Given the description of an element on the screen output the (x, y) to click on. 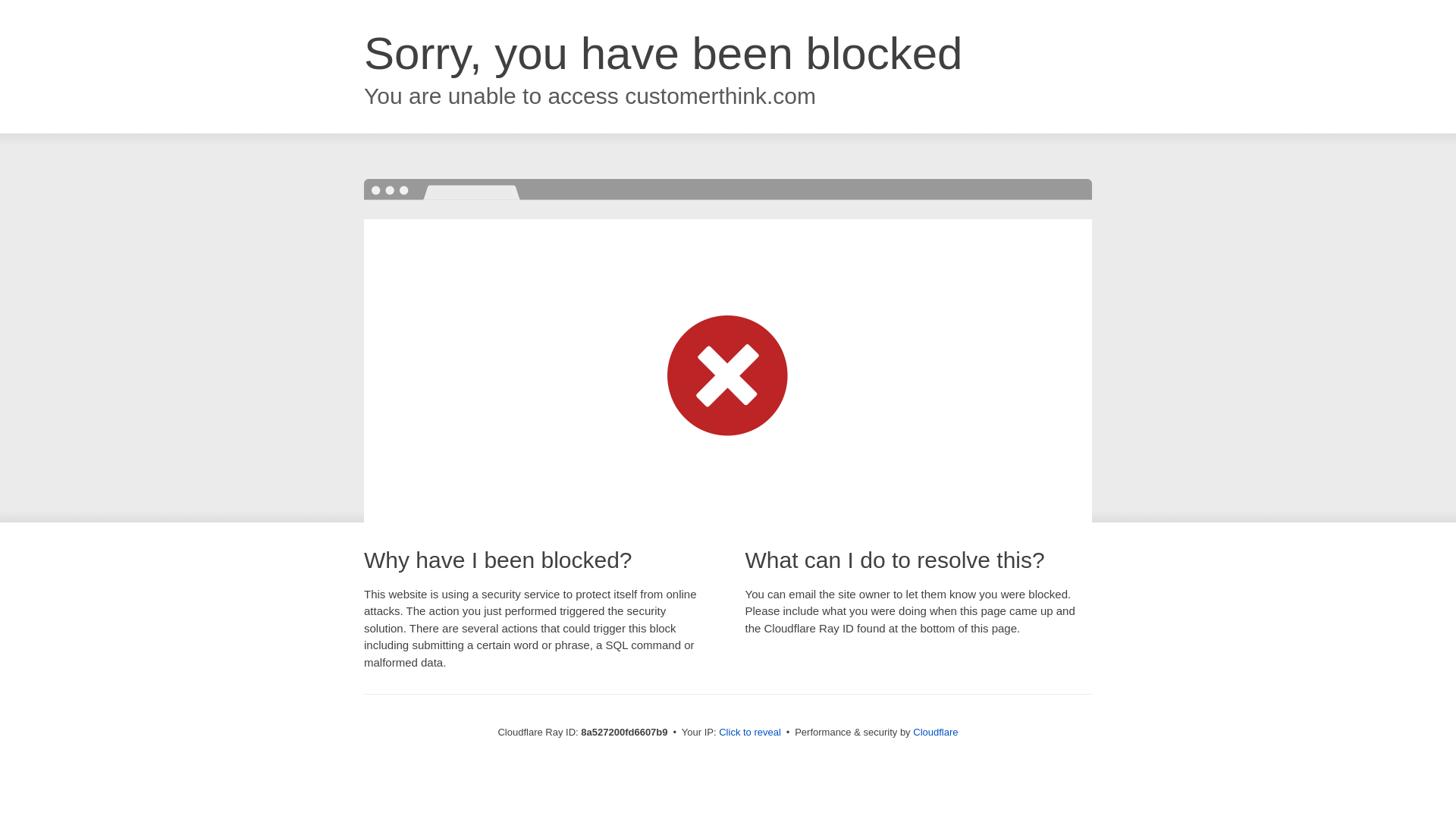
Cloudflare (935, 731)
Click to reveal (749, 732)
